Given the description of an element on the screen output the (x, y) to click on. 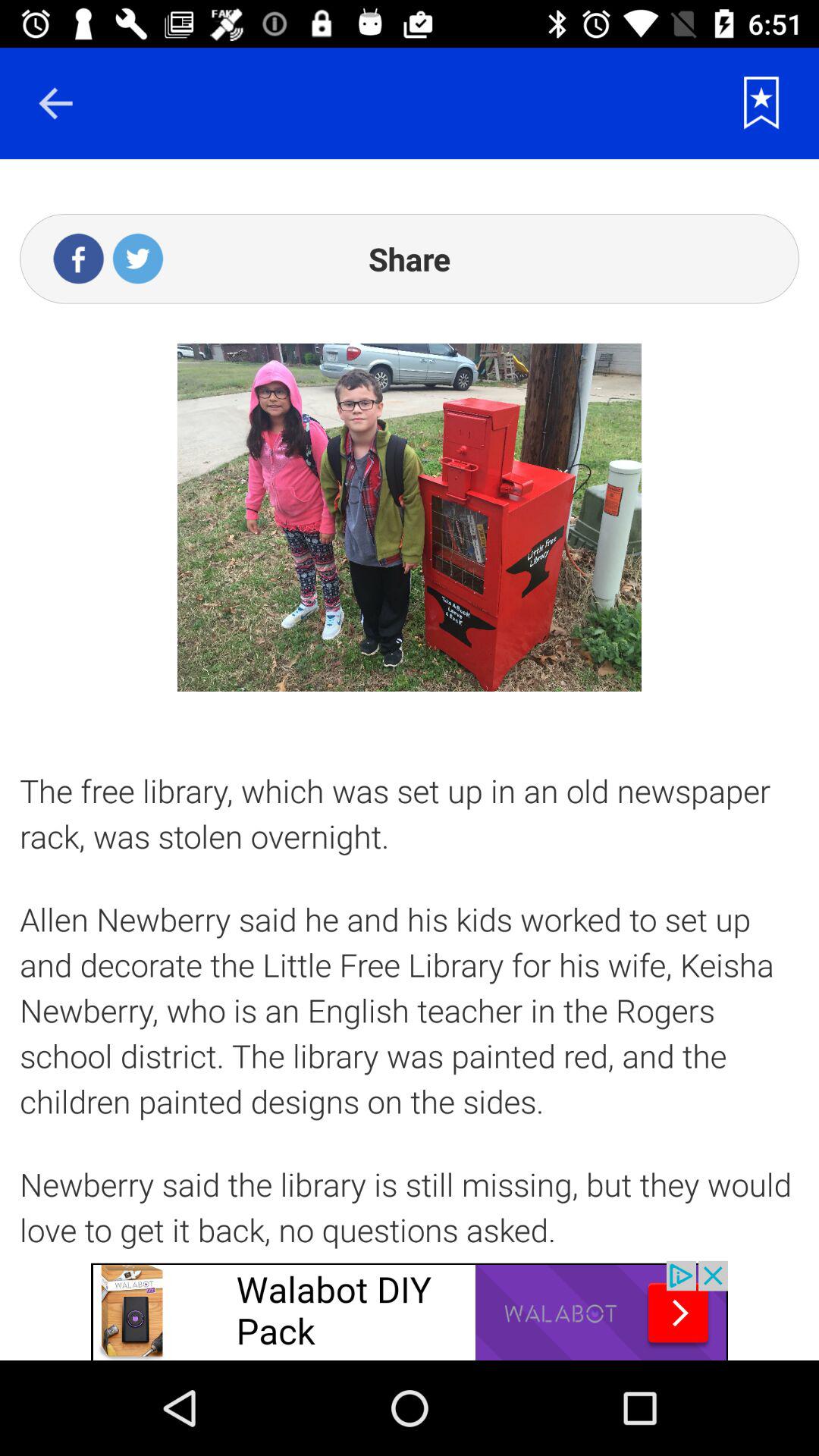
go to next (55, 103)
